Given the description of an element on the screen output the (x, y) to click on. 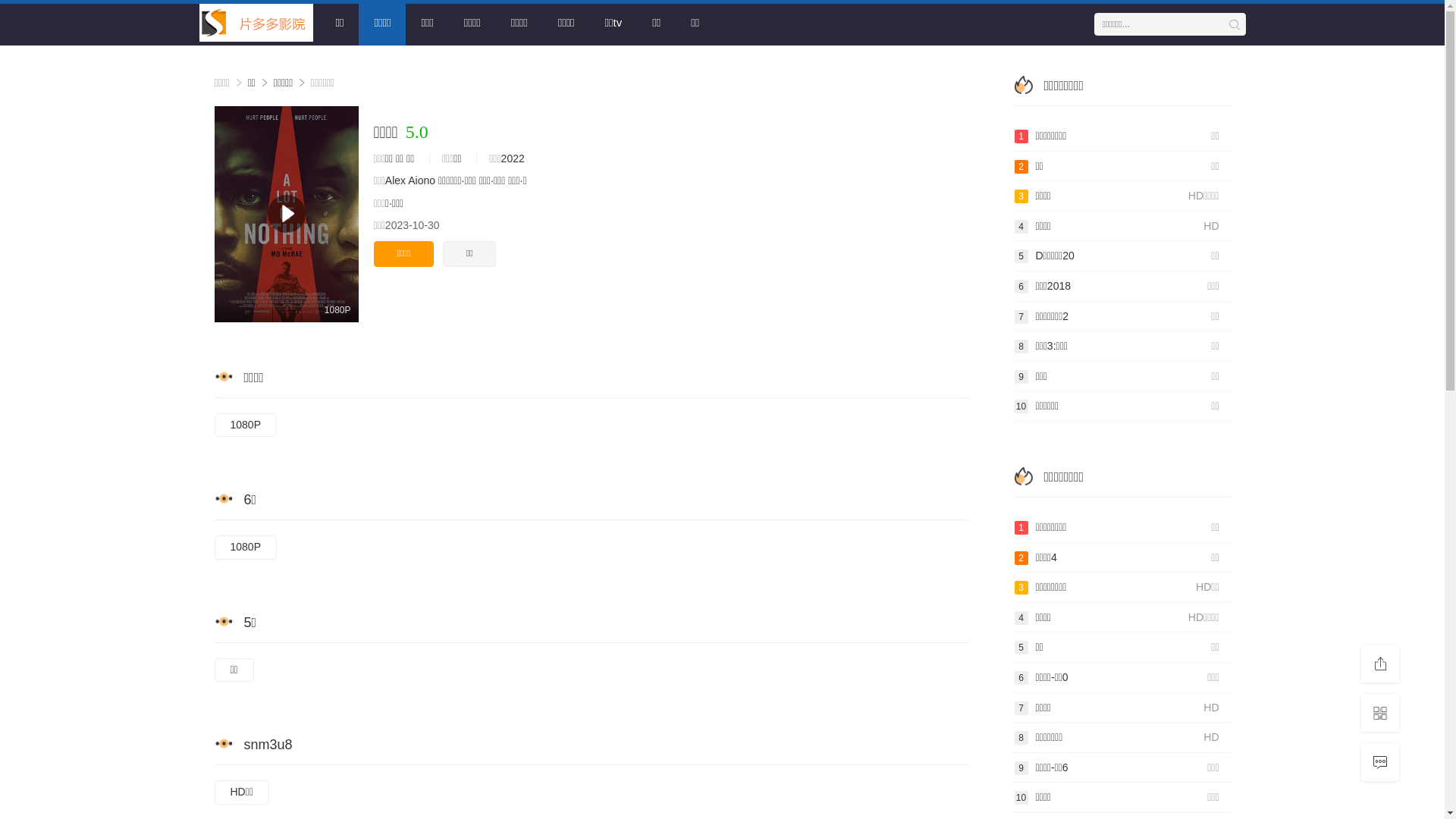
1080P Element type: text (285, 214)
1080P Element type: text (244, 425)
Aiono Element type: text (421, 180)
1080P Element type: text (244, 547)
Alex Element type: text (395, 180)
2022 Element type: text (512, 158)
